Given the description of an element on the screen output the (x, y) to click on. 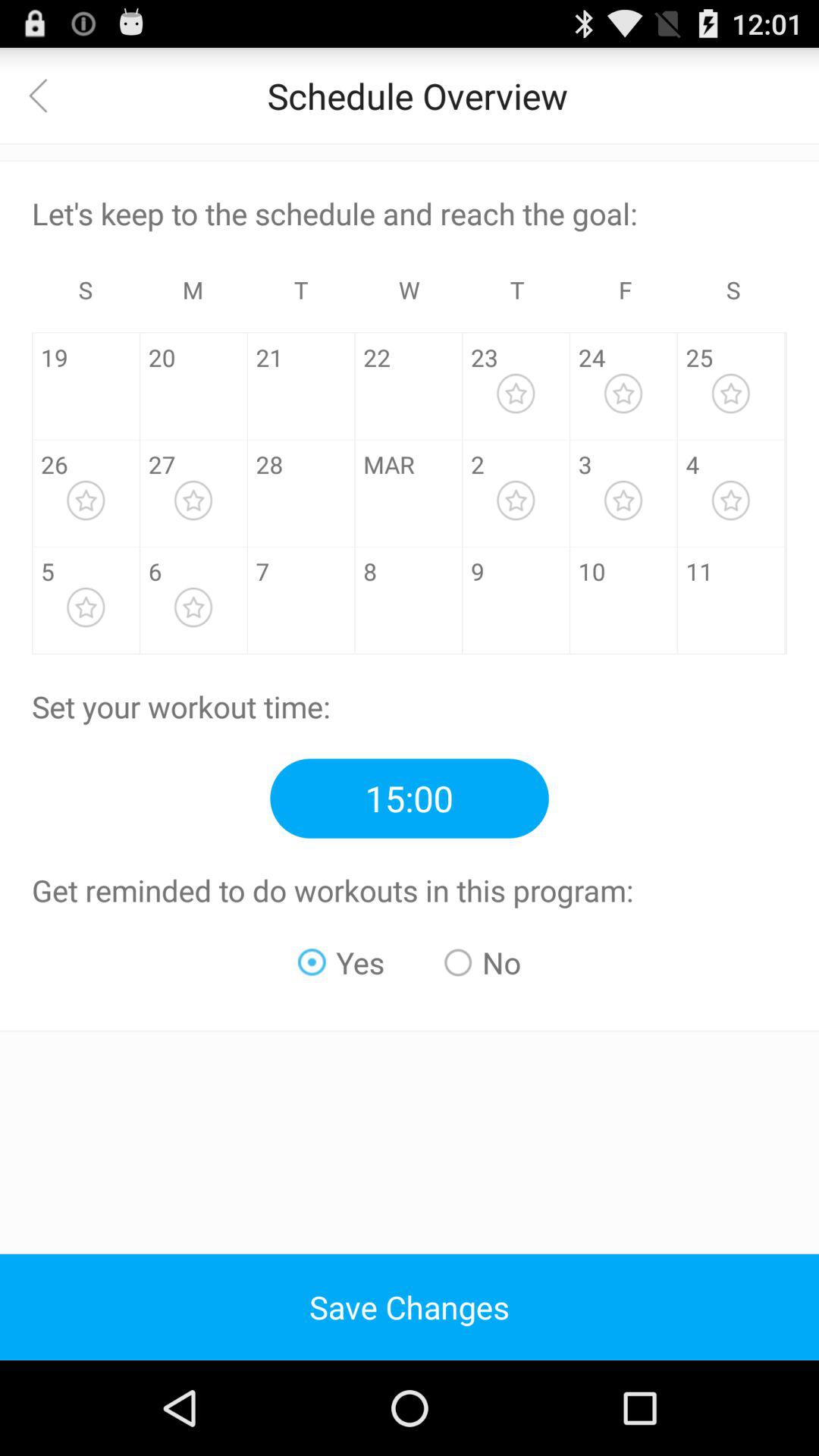
swipe to the no radio button (482, 962)
